Given the description of an element on the screen output the (x, y) to click on. 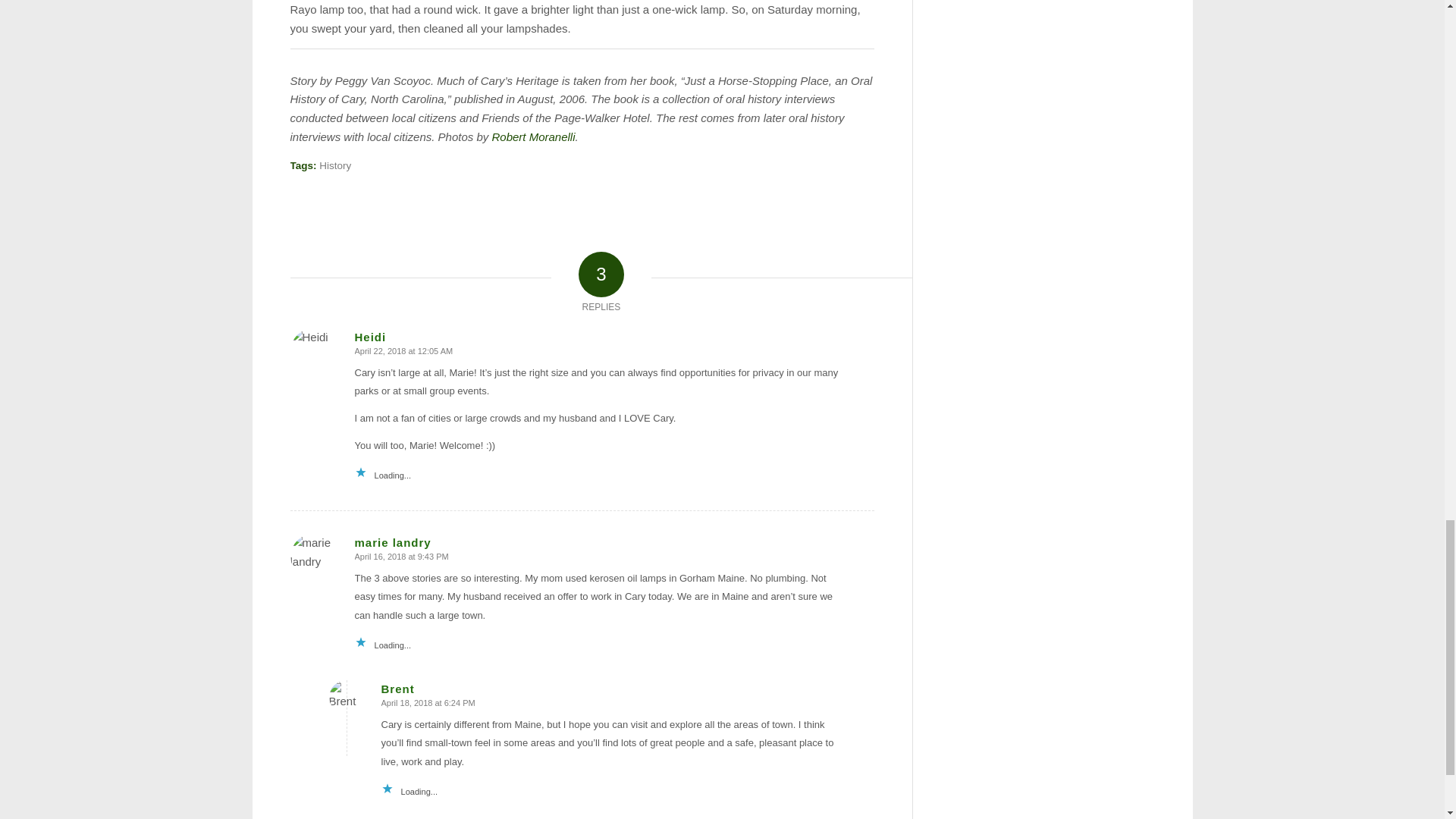
Robert Moranelli (533, 136)
April 16, 2018 at 9:43 PM (401, 556)
April 22, 2018 at 12:05 AM (403, 350)
History (334, 165)
